Given the description of an element on the screen output the (x, y) to click on. 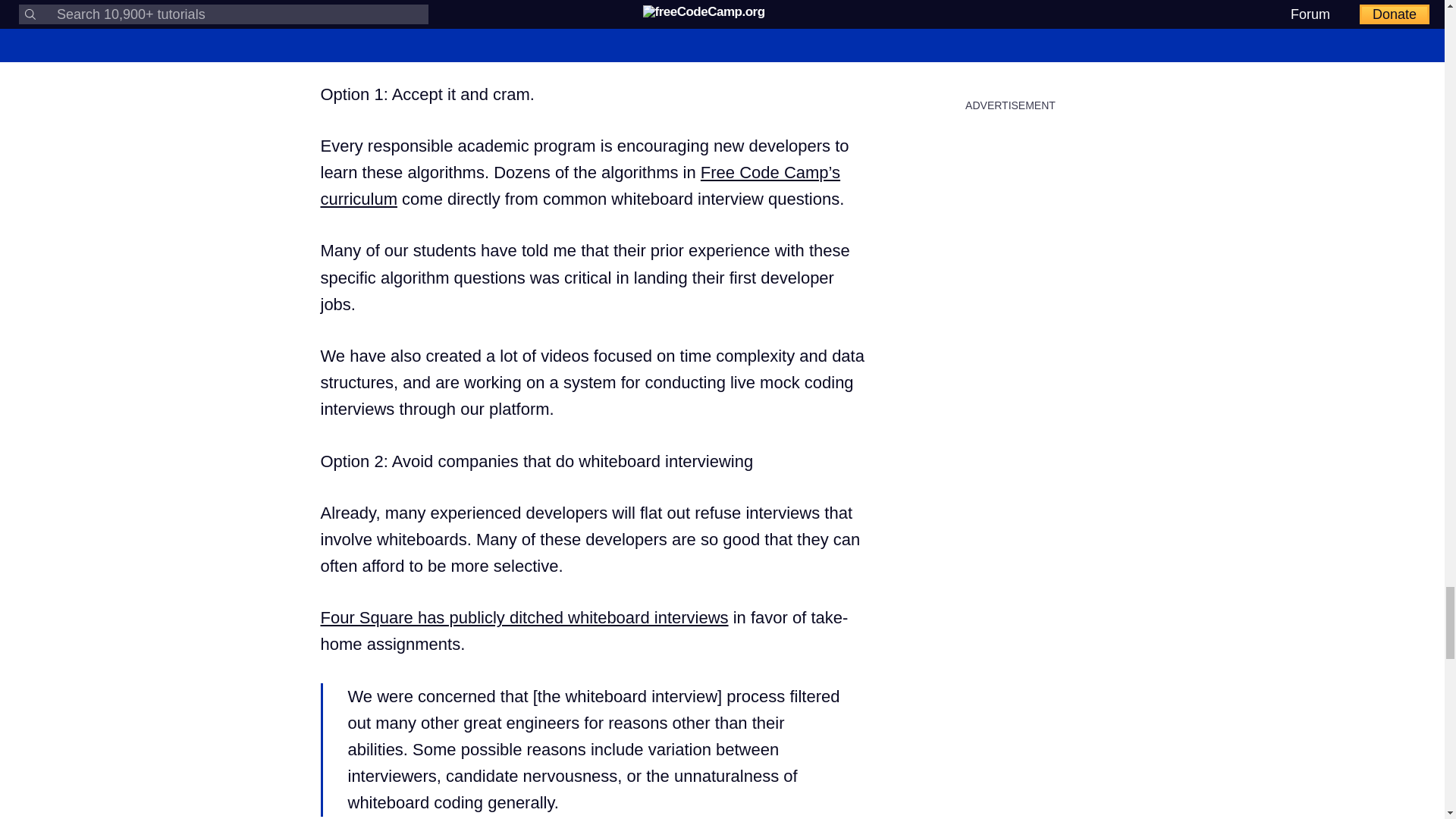
Four Square has publicly ditched whiteboard interviews (524, 617)
